Given the description of an element on the screen output the (x, y) to click on. 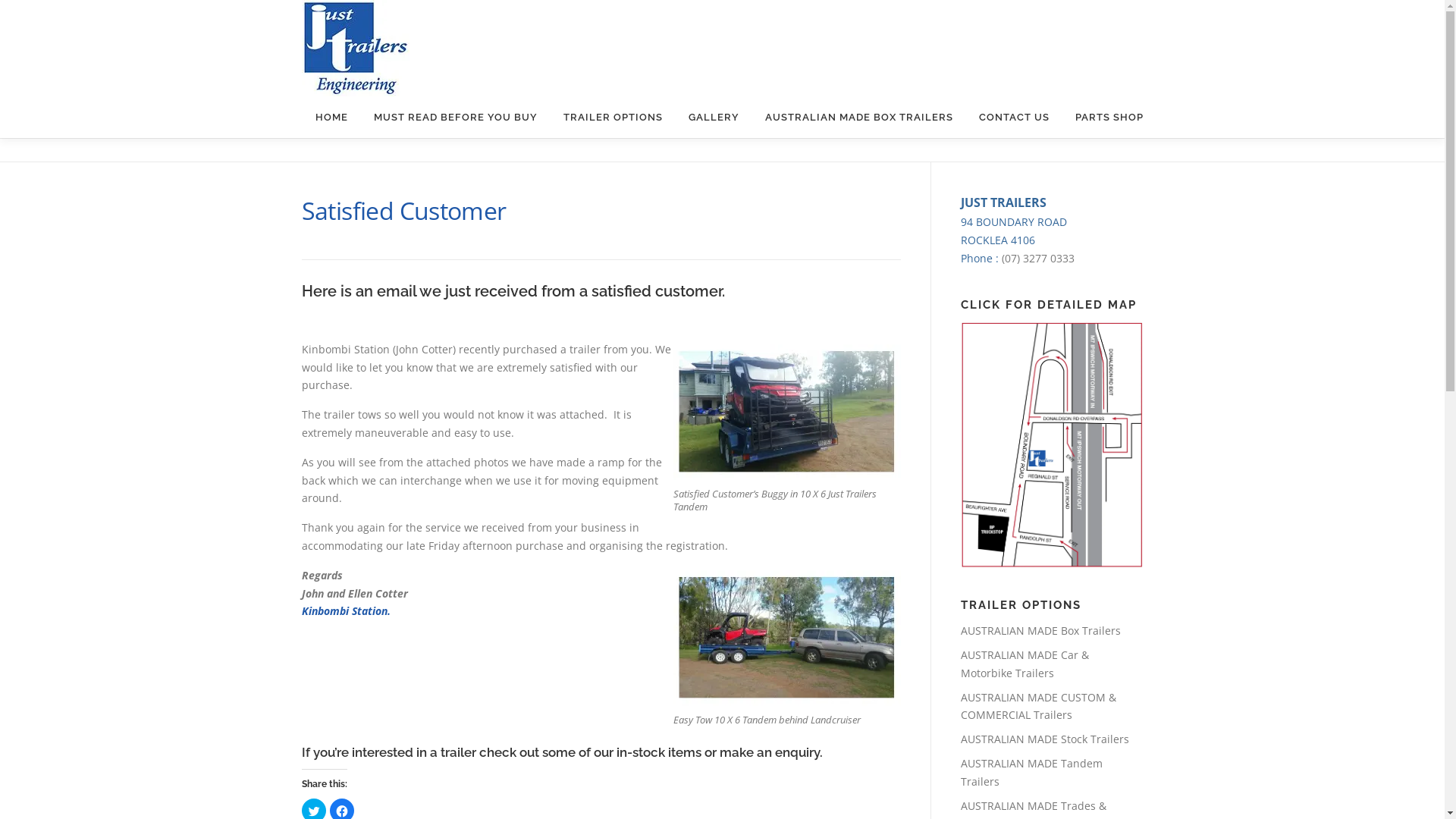
Kinbombi Station. Element type: text (345, 610)
PARTS SHOP Element type: text (1101, 117)
GALLERY Element type: text (712, 117)
AUSTRALIAN MADE Tandem Trailers Element type: text (1030, 772)
MUST READ BEFORE YOU BUY Element type: text (455, 117)
in-stock items Element type: text (657, 751)
CLICK FOR MORE DETAIL Element type: hover (1051, 444)
AUSTRALIAN MADE CUSTOM & COMMERCIAL Trailers Element type: text (1037, 706)
TRAILER OPTIONS Element type: text (612, 117)
(07) 3277 0333 Element type: text (1037, 258)
HOME Element type: text (330, 117)
enquiry Element type: text (797, 751)
AUSTRALIAN MADE Stock Trailers Element type: text (1044, 738)
AUSTRALIAN MADE BOX TRAILERS Element type: text (859, 117)
AUSTRALIAN MADE Car & Motorbike Trailers Element type: text (1024, 663)
AUSTRALIAN MADE Box Trailers Element type: text (1040, 630)
CONTACT US Element type: text (1014, 117)
